Given the description of an element on the screen output the (x, y) to click on. 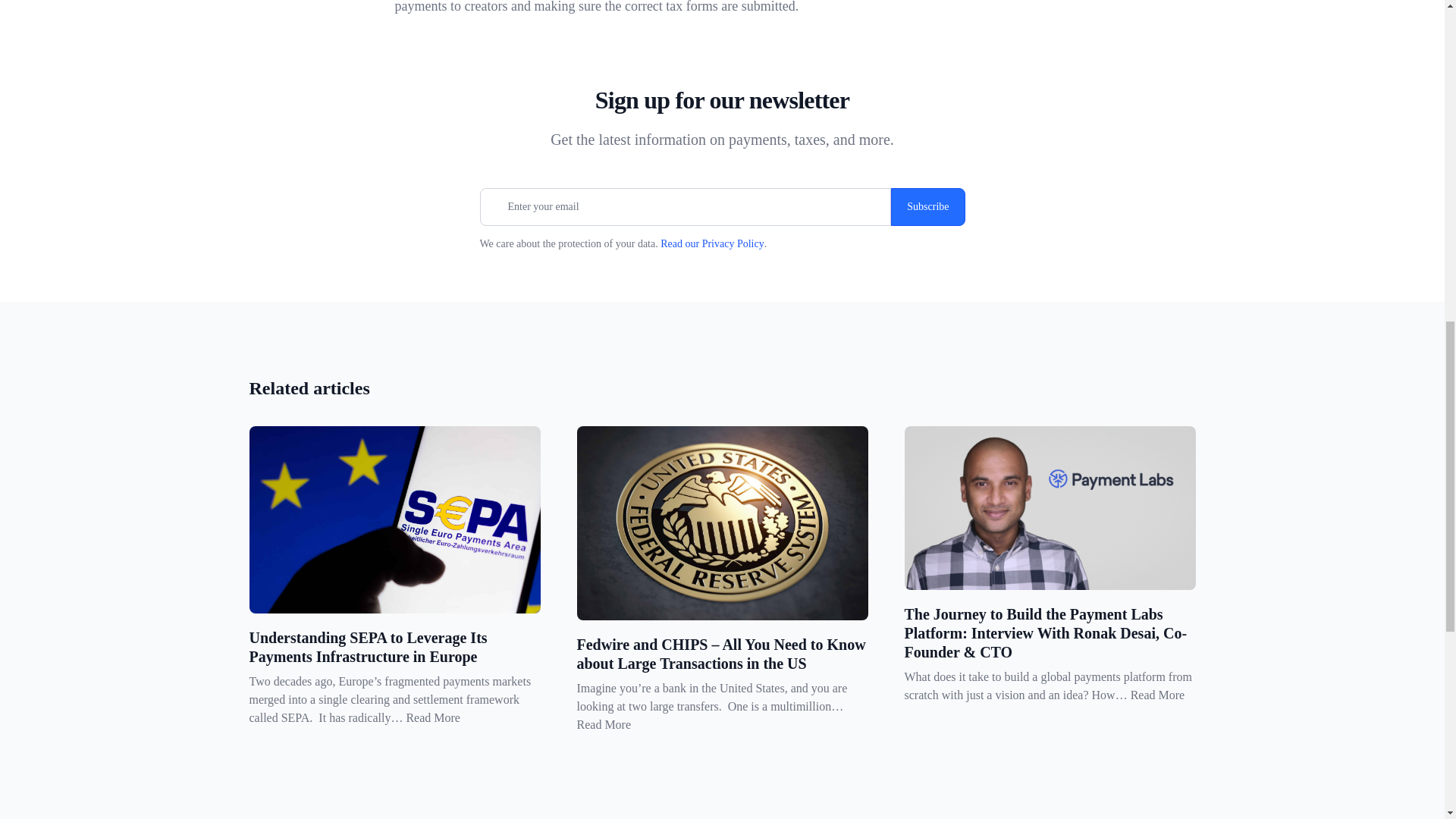
Subscribe (927, 207)
Read More (603, 724)
Read More (1158, 694)
Read More (433, 717)
Read our Privacy Policy (711, 243)
